Given the description of an element on the screen output the (x, y) to click on. 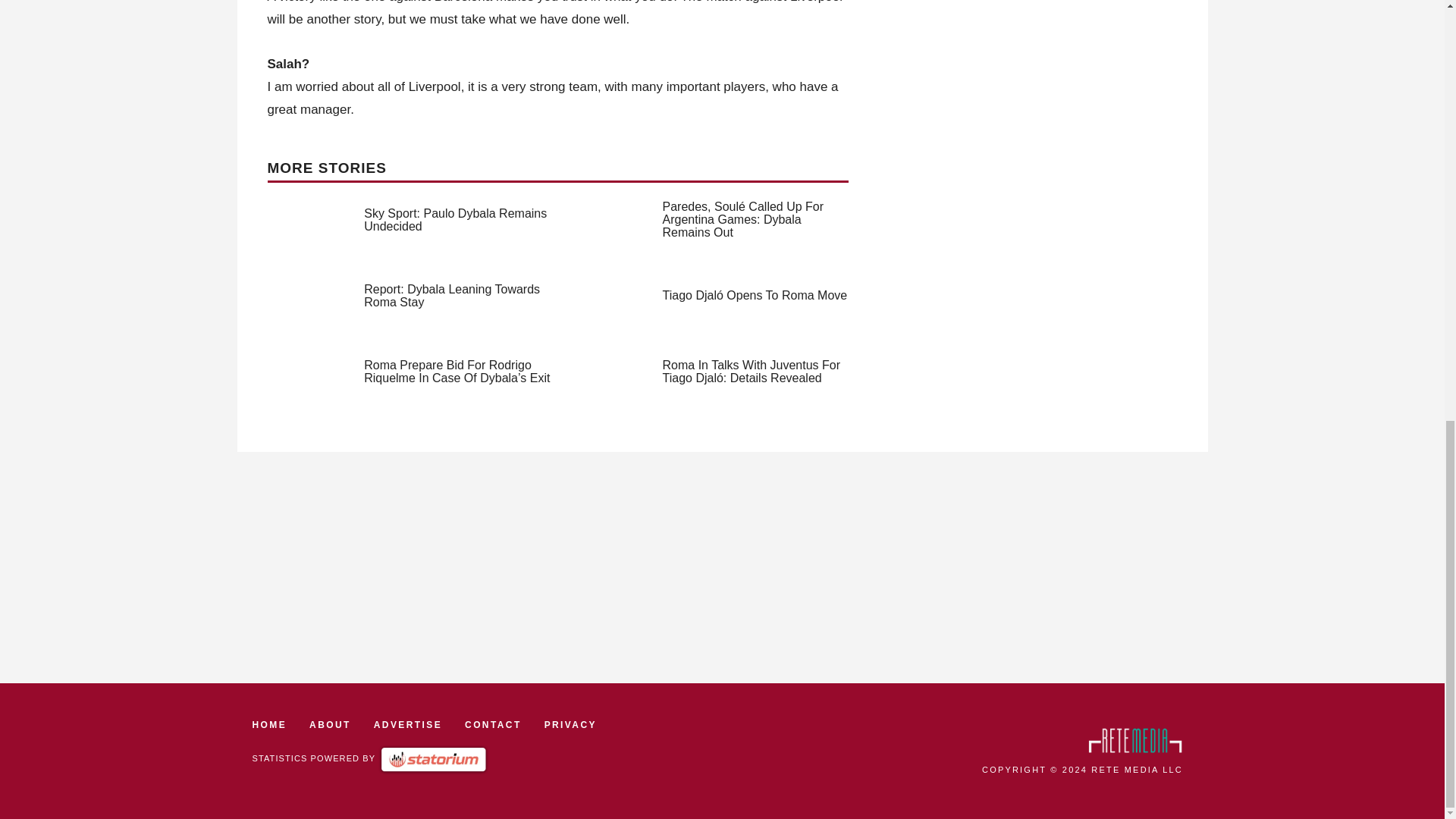
ABOUT (329, 725)
HOME (268, 725)
Report: Dybala Leaning Towards Roma Stay (452, 295)
PRIVACY (570, 725)
Sky Sport: Paulo Dybala Remains Undecided (455, 219)
ADVERTISE (408, 725)
CONTACT (492, 725)
X (1434, 780)
